Given the description of an element on the screen output the (x, y) to click on. 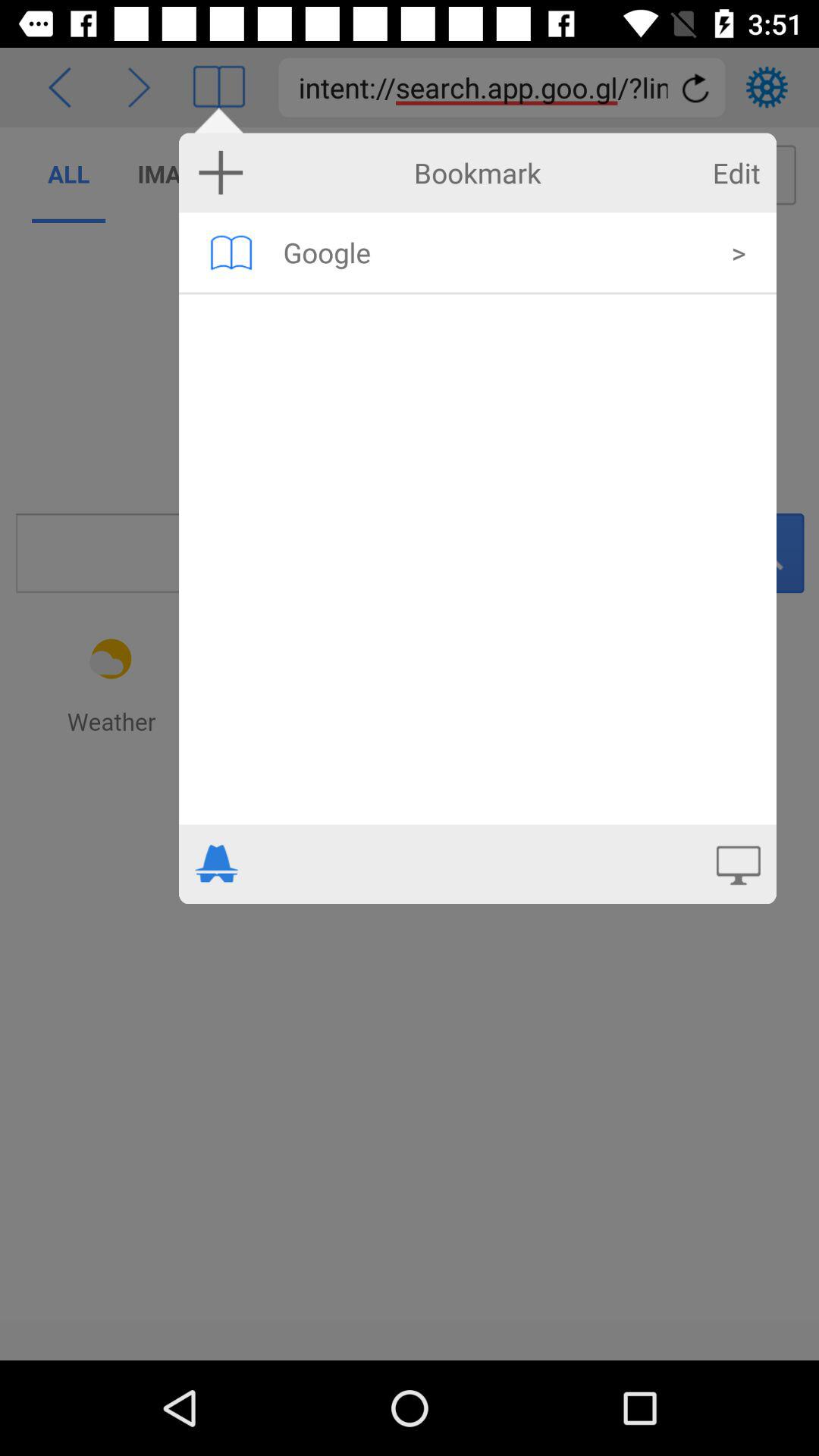
choose the icon next to google (231, 252)
